Given the description of an element on the screen output the (x, y) to click on. 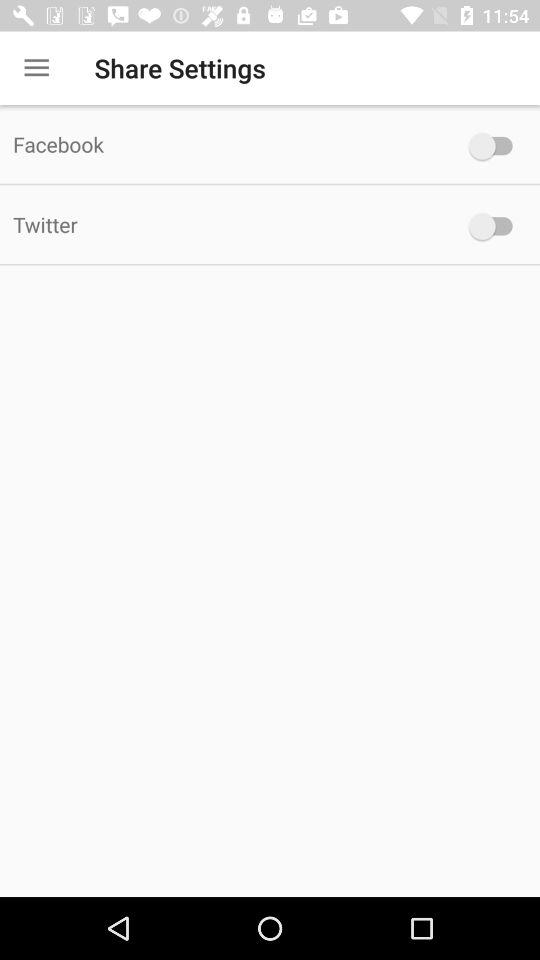
open icon next to share settings icon (36, 68)
